Given the description of an element on the screen output the (x, y) to click on. 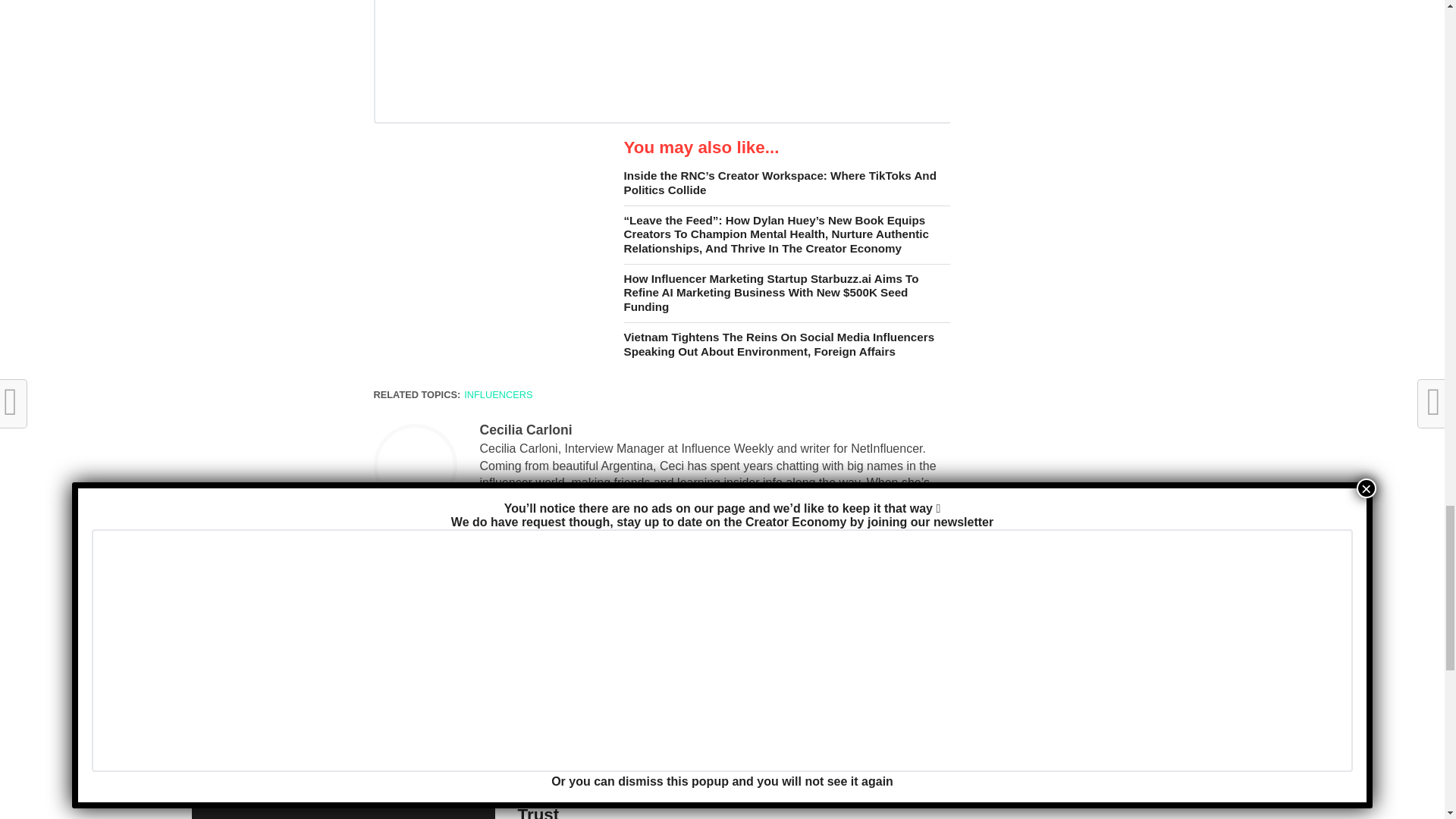
Posts by Cecilia Carloni (525, 429)
